Given the description of an element on the screen output the (x, y) to click on. 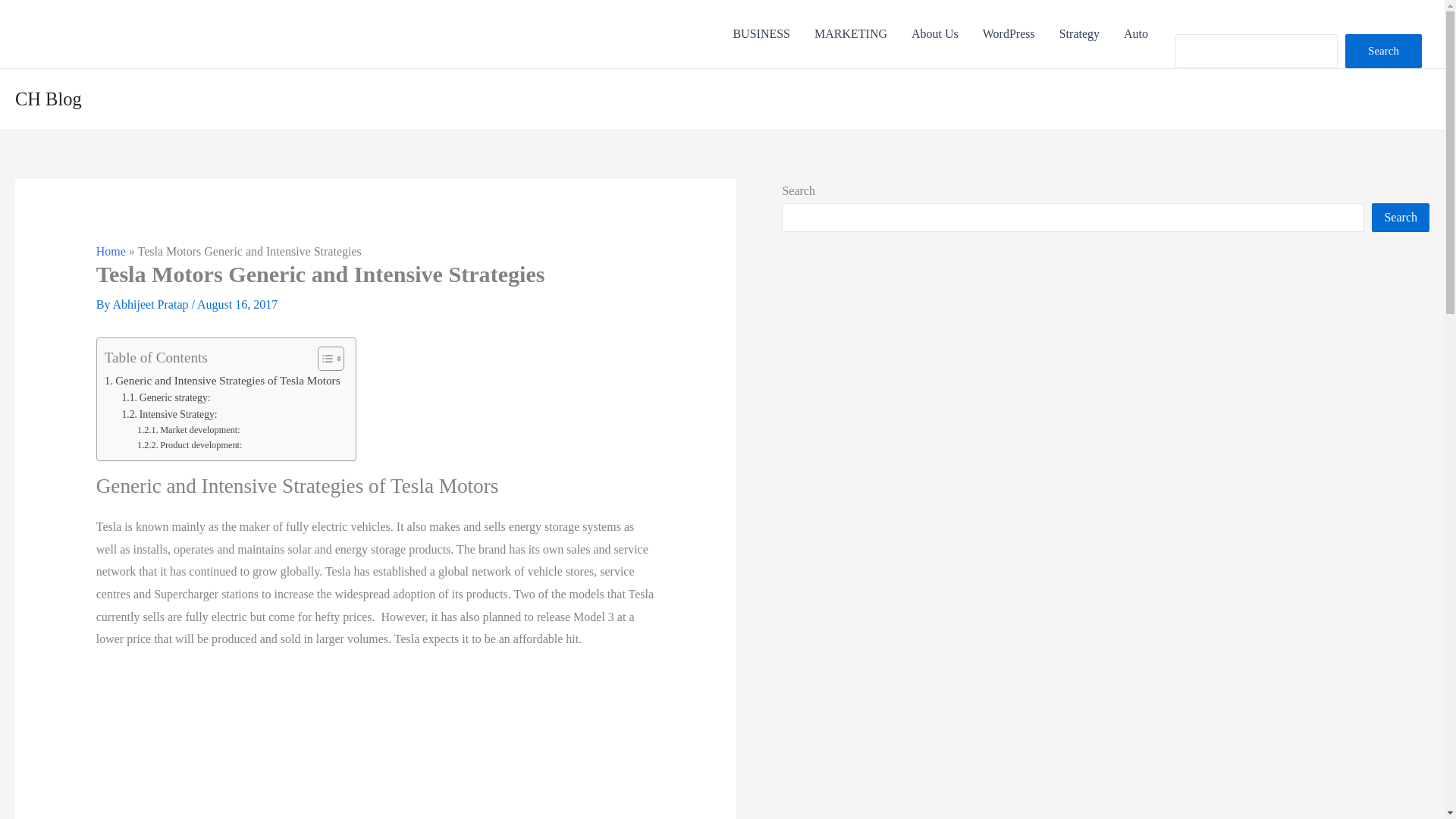
Market development: (188, 430)
Strategy (1079, 34)
WordPress (1008, 34)
BUSINESS (761, 34)
Search (1400, 217)
View all posts by Abhijeet Pratap (152, 304)
Abhijeet Pratap (152, 304)
Generic and Intensive Strategies of Tesla Motors (222, 380)
Generic and Intensive Strategies of Tesla Motors (222, 380)
Product development: (188, 445)
